Given the description of an element on the screen output the (x, y) to click on. 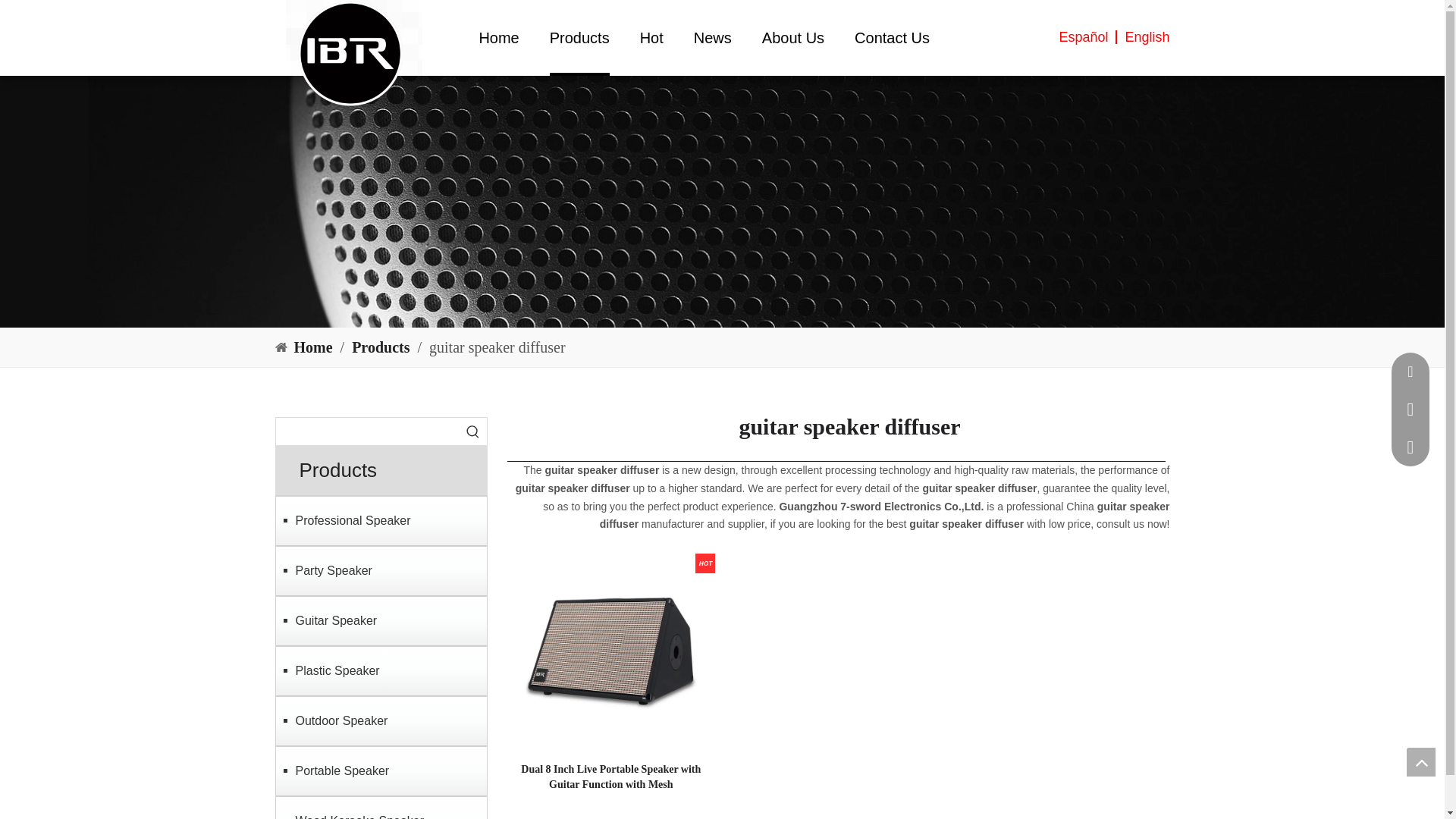
Home (315, 347)
Portable Speaker (381, 770)
Wood Karaoke Speaker (381, 809)
Guitar Speaker (381, 620)
Professional Speaker (381, 520)
Plastic Speaker (381, 670)
Party Speaker (381, 570)
Outdoor Speaker (381, 721)
Guitar Speaker (381, 620)
Plastic Speaker (381, 670)
Wood Karaoke Speaker (381, 809)
Products (382, 347)
Party Speaker (381, 570)
